Given the description of an element on the screen output the (x, y) to click on. 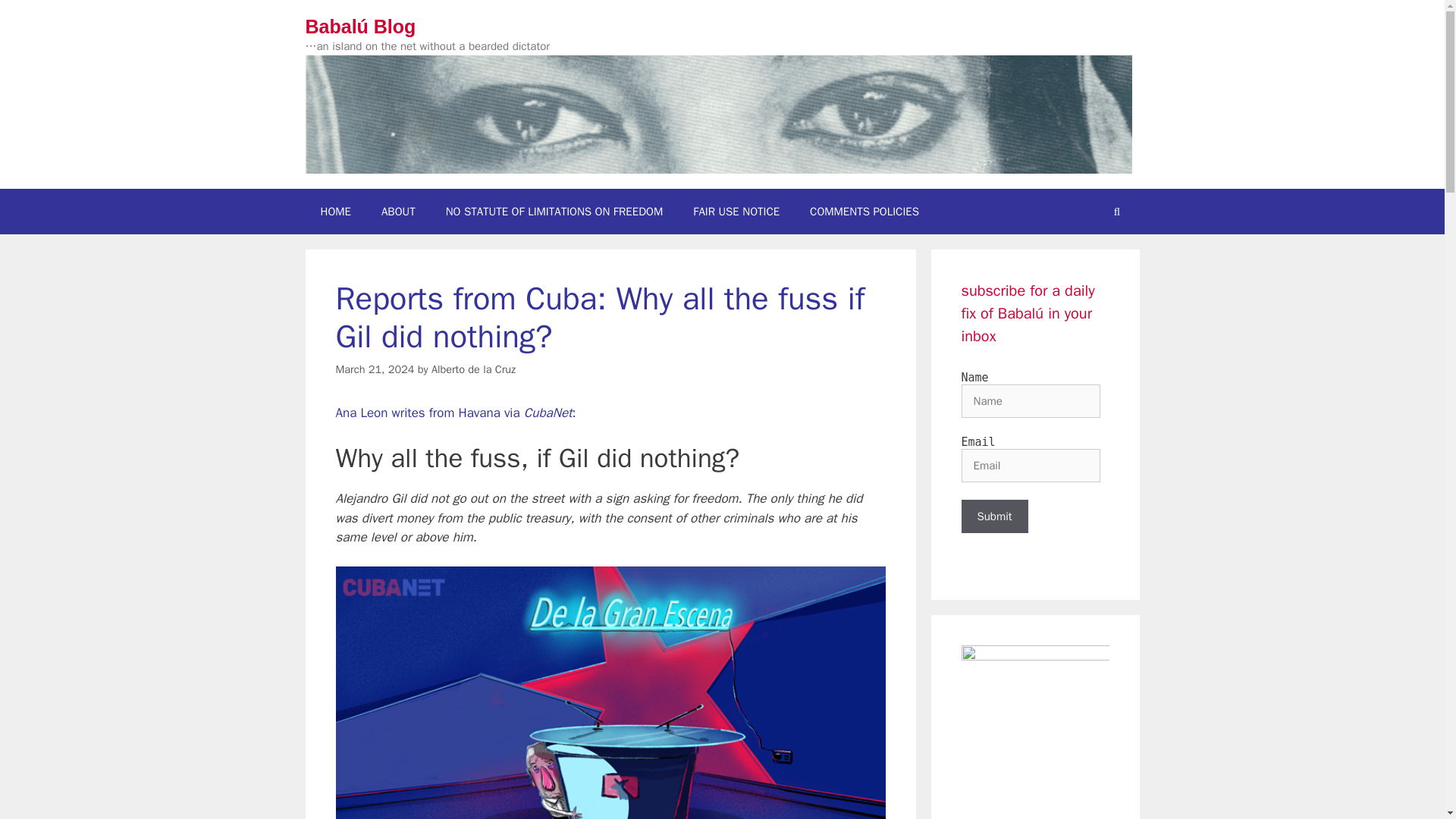
HOME (334, 210)
Alberto de la Cruz (472, 368)
COMMENTS POLICIES (864, 210)
FAIR USE NOTICE (736, 210)
Submit (993, 515)
ABOUT (398, 210)
Ana Leon writes from Havana via CubaNet: (454, 412)
Submit (993, 515)
NO STATUTE OF LIMITATIONS ON FREEDOM (554, 210)
View all posts by Alberto de la Cruz (472, 368)
